Given the description of an element on the screen output the (x, y) to click on. 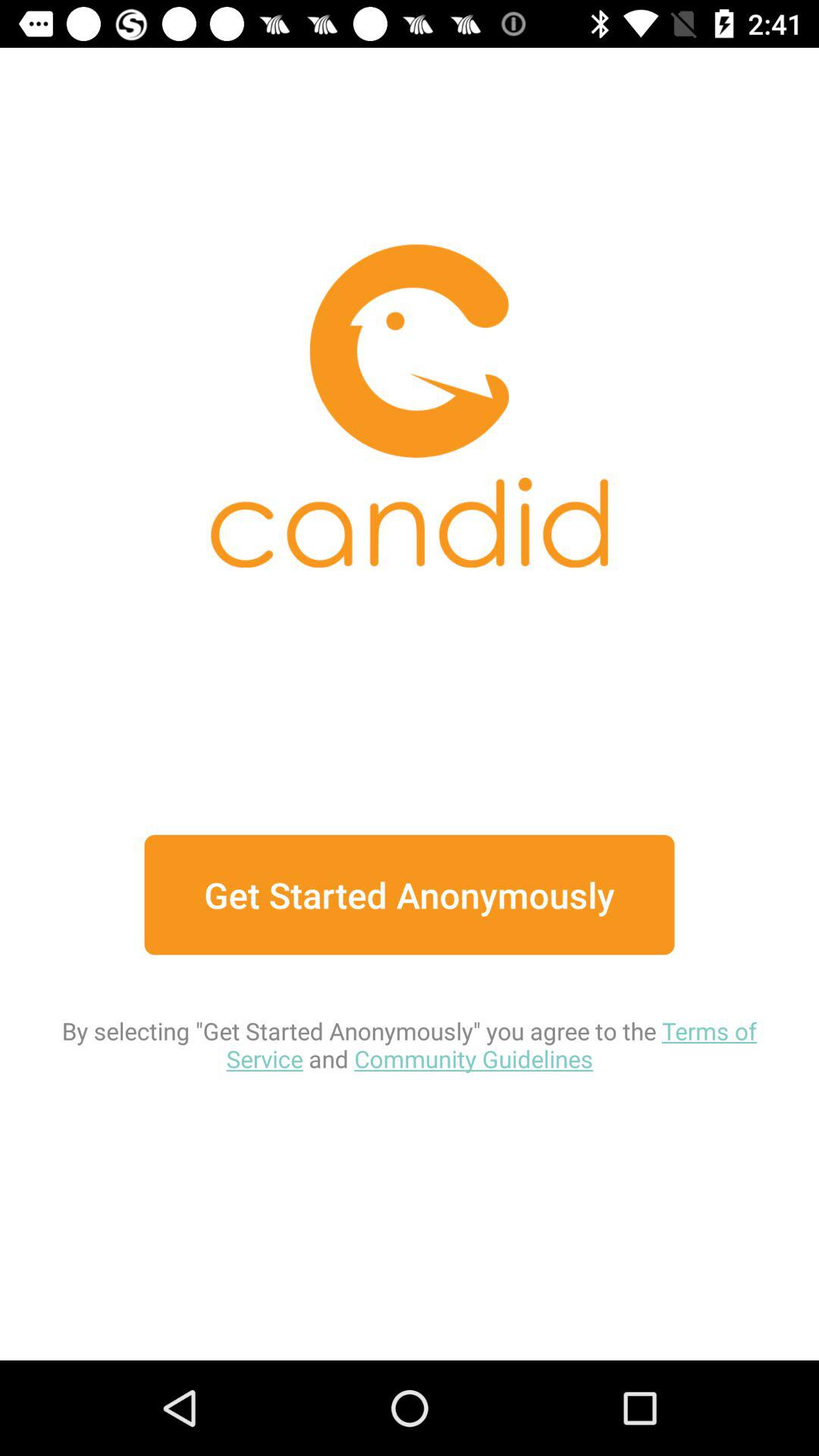
scroll until the by selecting get icon (409, 1014)
